Given the description of an element on the screen output the (x, y) to click on. 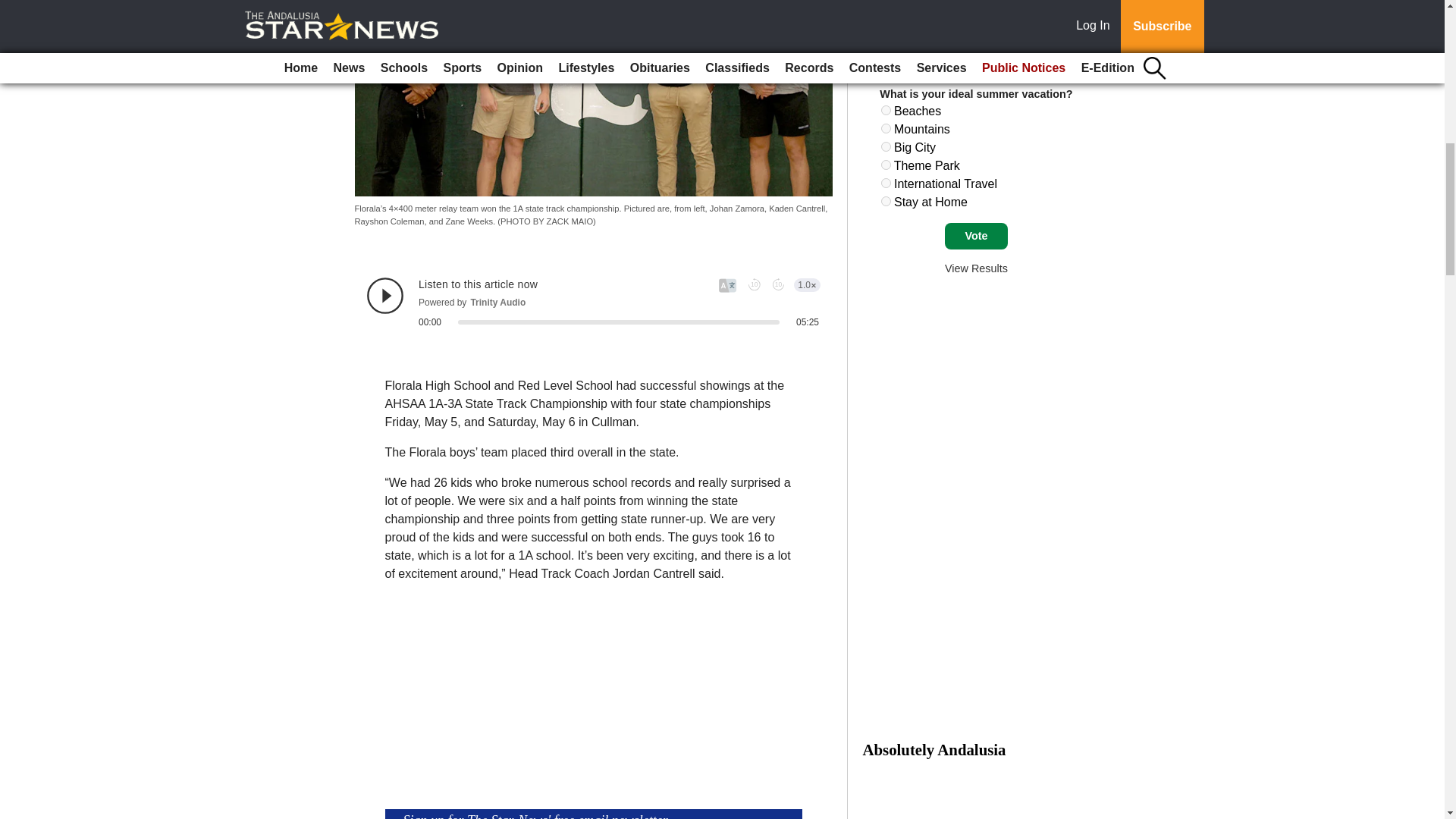
View Results Of This Poll (975, 268)
View Results (975, 268)
746 (885, 146)
   Vote    (975, 236)
745 (885, 128)
Trinity Audio Player (592, 302)
749 (885, 201)
744 (885, 110)
748 (885, 183)
747 (885, 164)
